Given the description of an element on the screen output the (x, y) to click on. 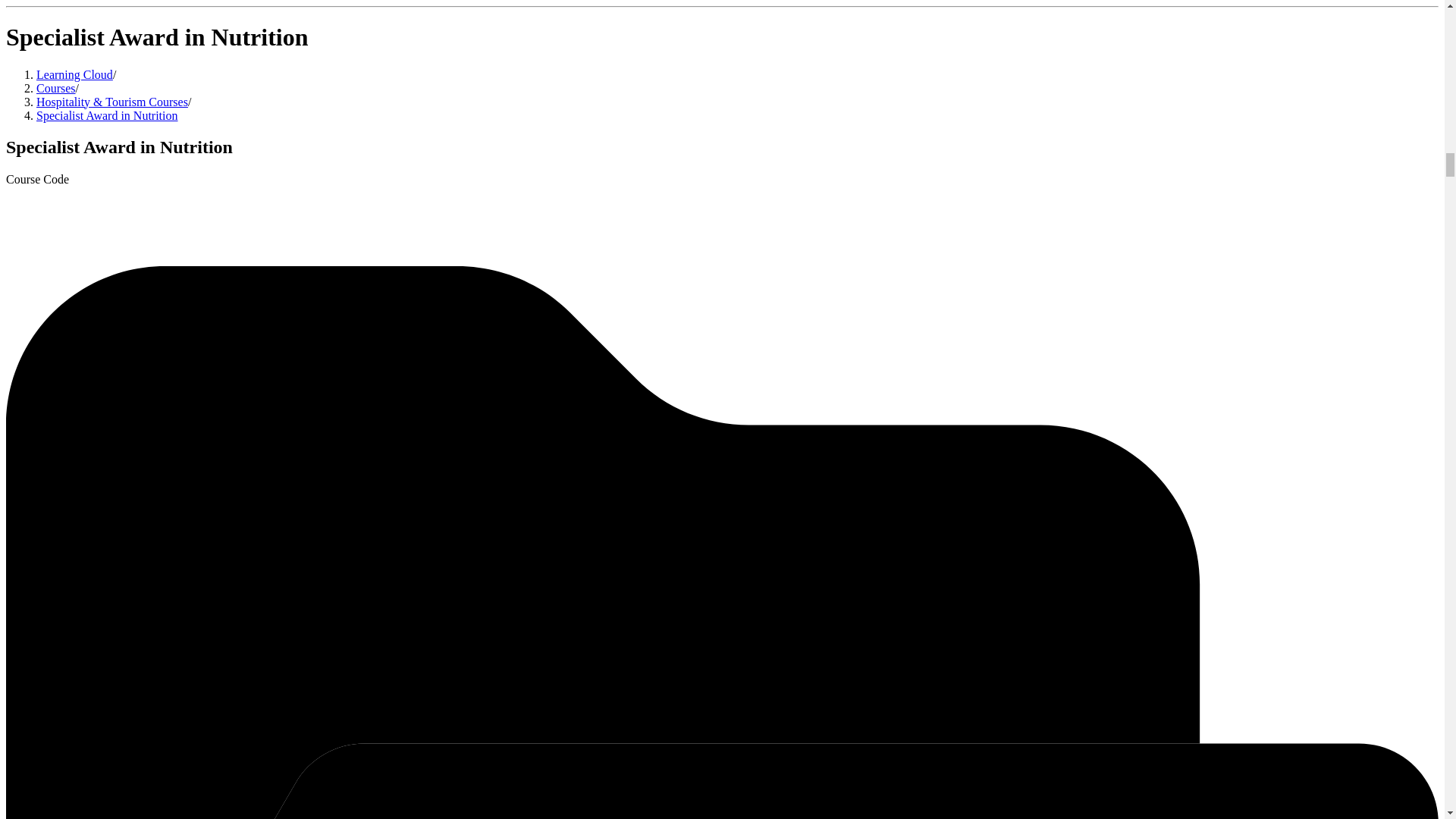
Specialist Award in Nutrition (106, 115)
Learning Cloud (74, 74)
Courses (55, 88)
